Given the description of an element on the screen output the (x, y) to click on. 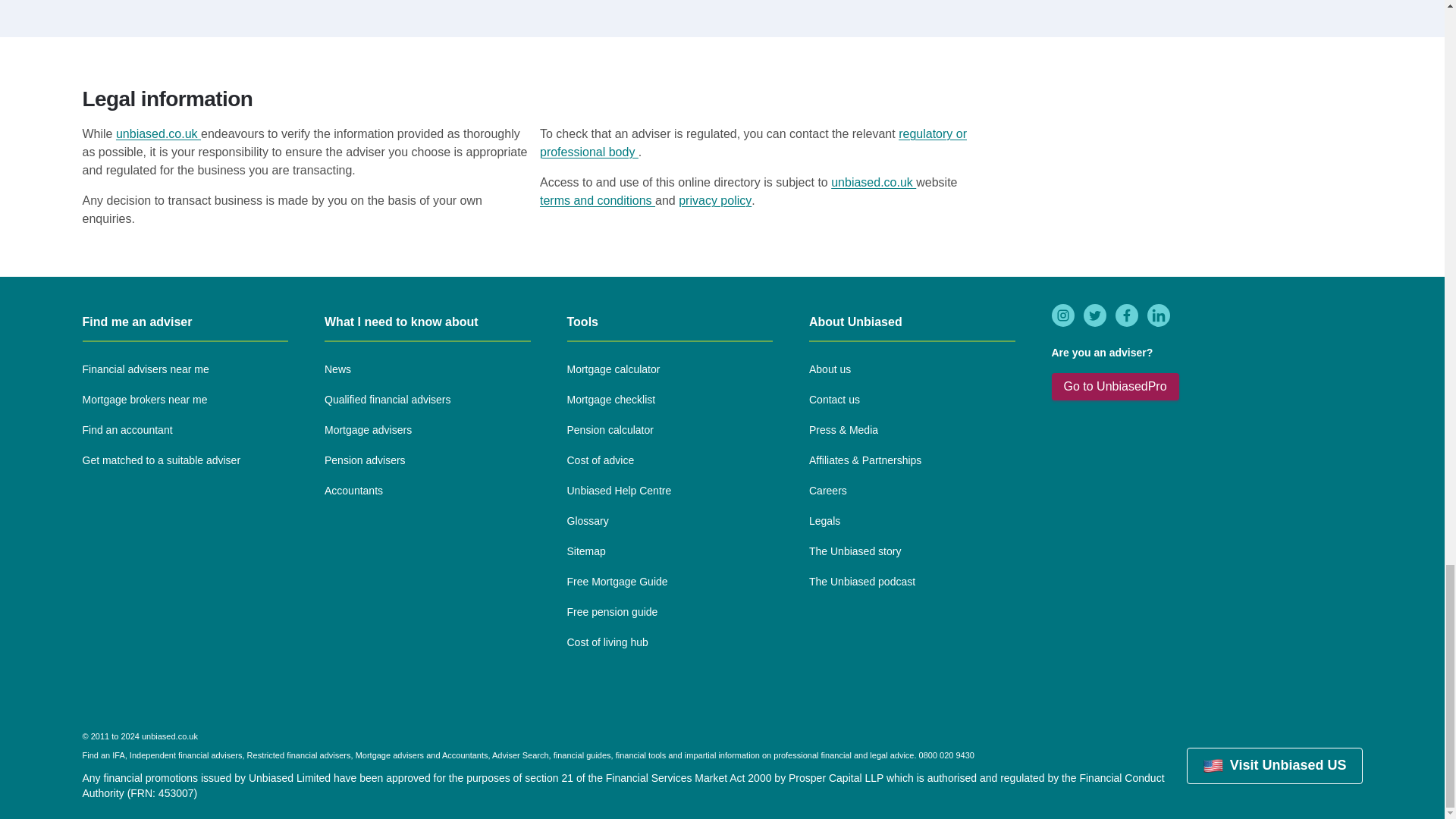
unbiased.co.uk (873, 182)
terms and conditions (597, 200)
Mortgage brokers near me (143, 400)
Financial advisers near me (144, 369)
regulatory or professional body (753, 142)
unbiased.co.uk (158, 133)
privacy policy (714, 200)
